Given the description of an element on the screen output the (x, y) to click on. 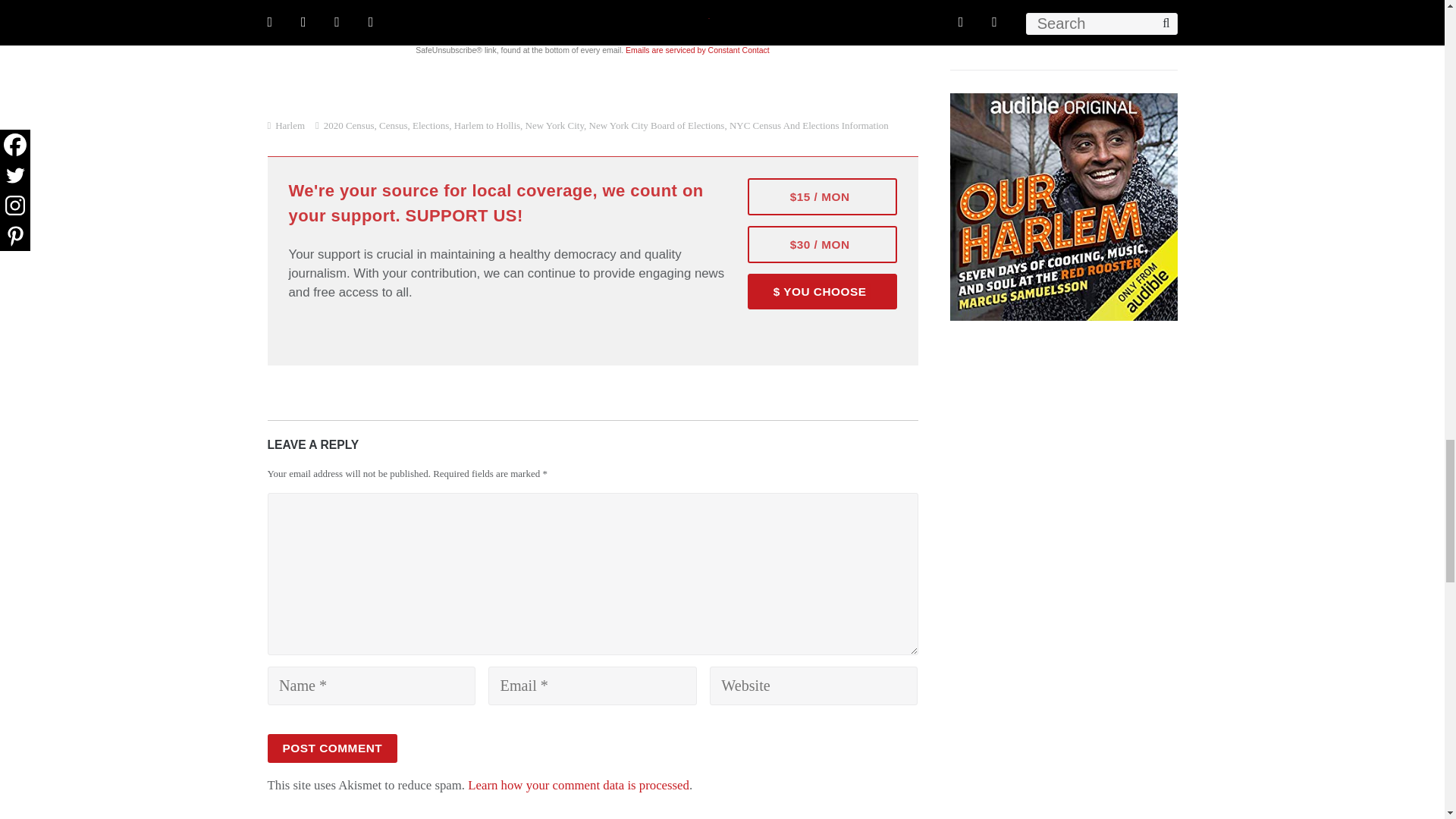
Emails are serviced by Constant Contact (698, 49)
Harlem (289, 125)
Sign up (698, 4)
Elections (430, 125)
Post Comment (331, 747)
New York City Board of Elections (657, 125)
Harlem to Hollis (486, 125)
2020 Census (348, 125)
Census (392, 125)
New York City (554, 125)
Sign up (698, 4)
NYC Census And Elections Information (808, 125)
